Given the description of an element on the screen output the (x, y) to click on. 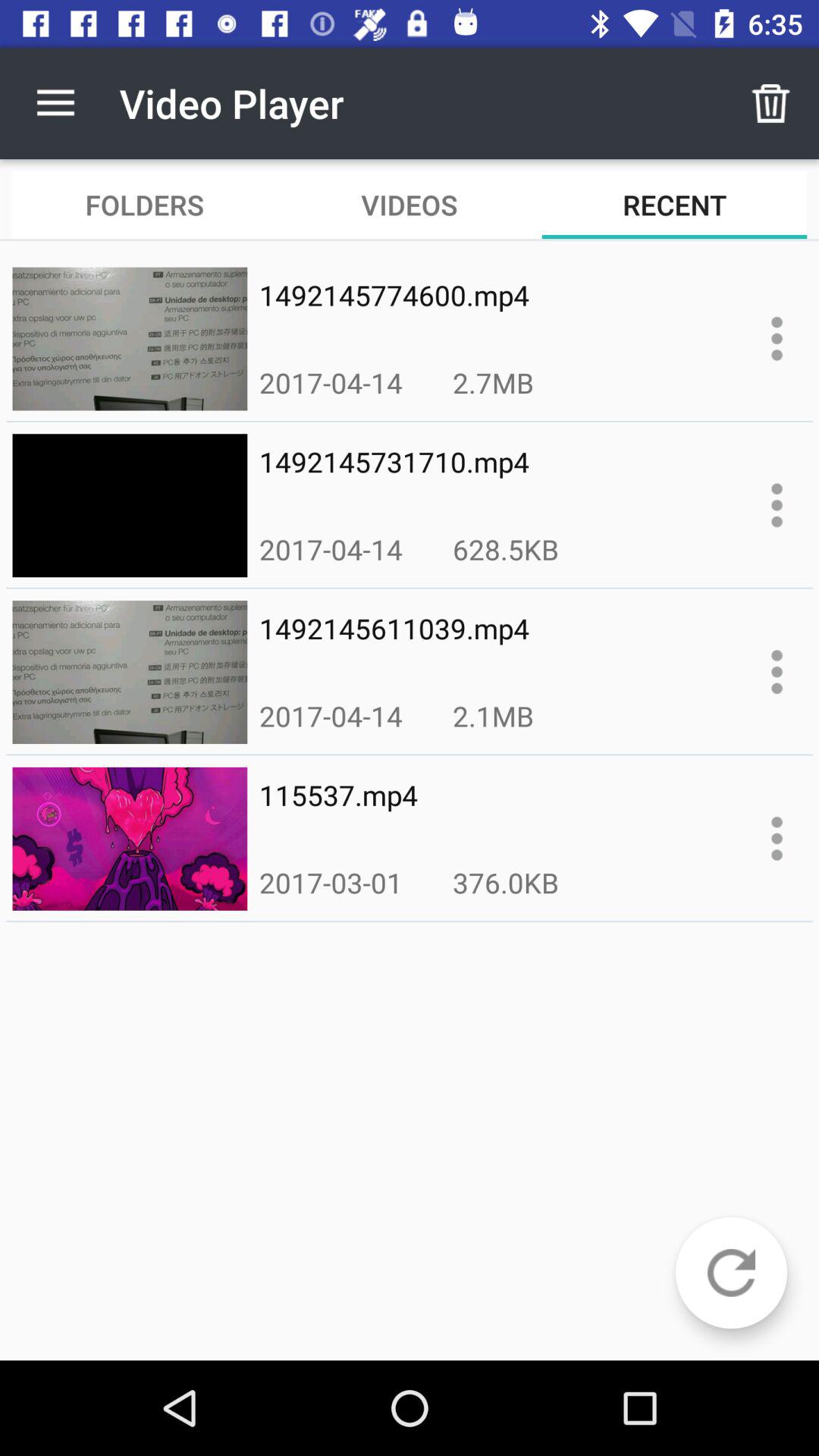
see clip options (776, 505)
